Given the description of an element on the screen output the (x, y) to click on. 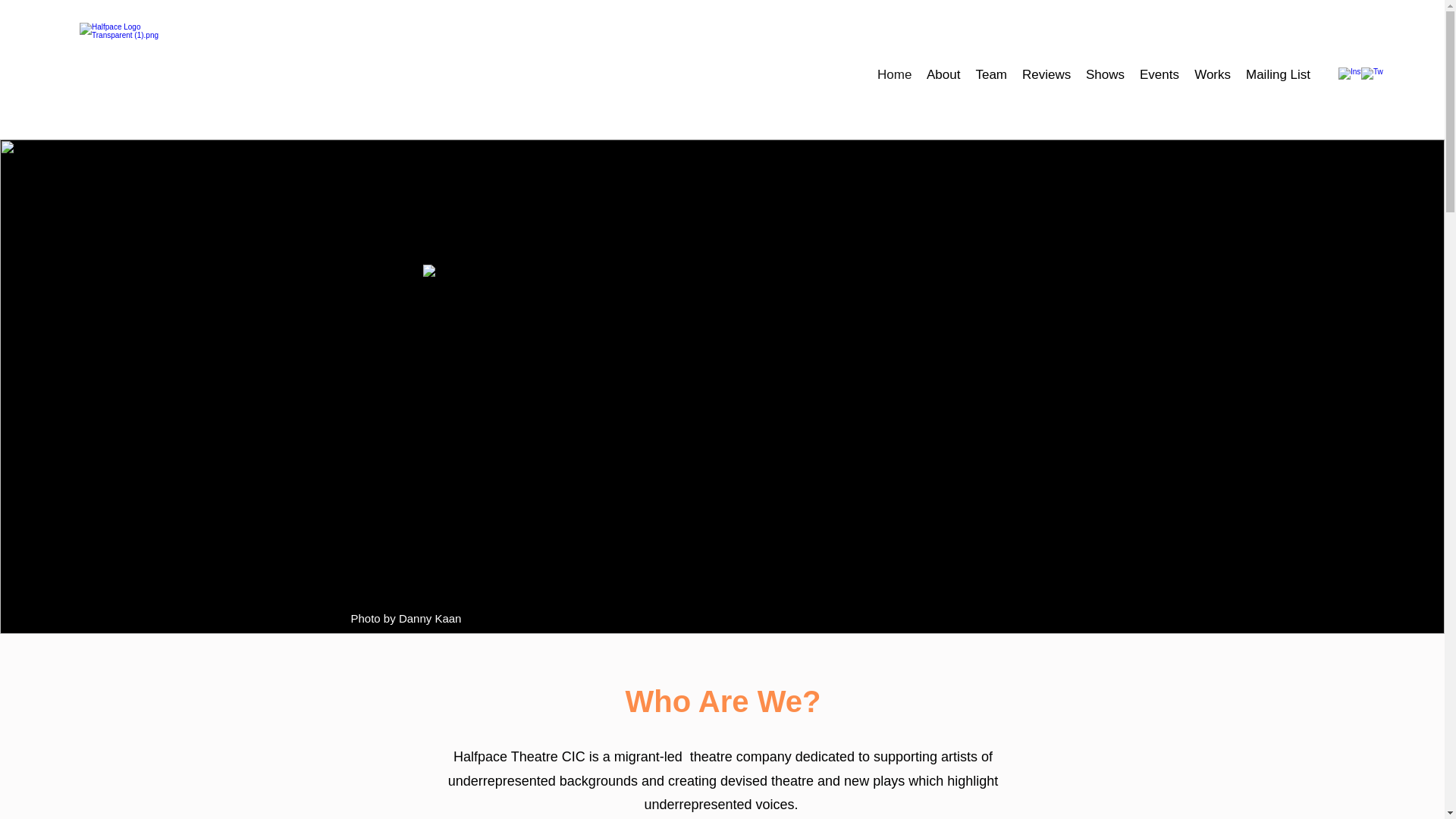
Reviews (1046, 74)
Home (893, 74)
Events (1159, 74)
Mailing List (1278, 74)
Shows (1105, 74)
Team (991, 74)
About (943, 74)
Works (1212, 74)
